Given the description of an element on the screen output the (x, y) to click on. 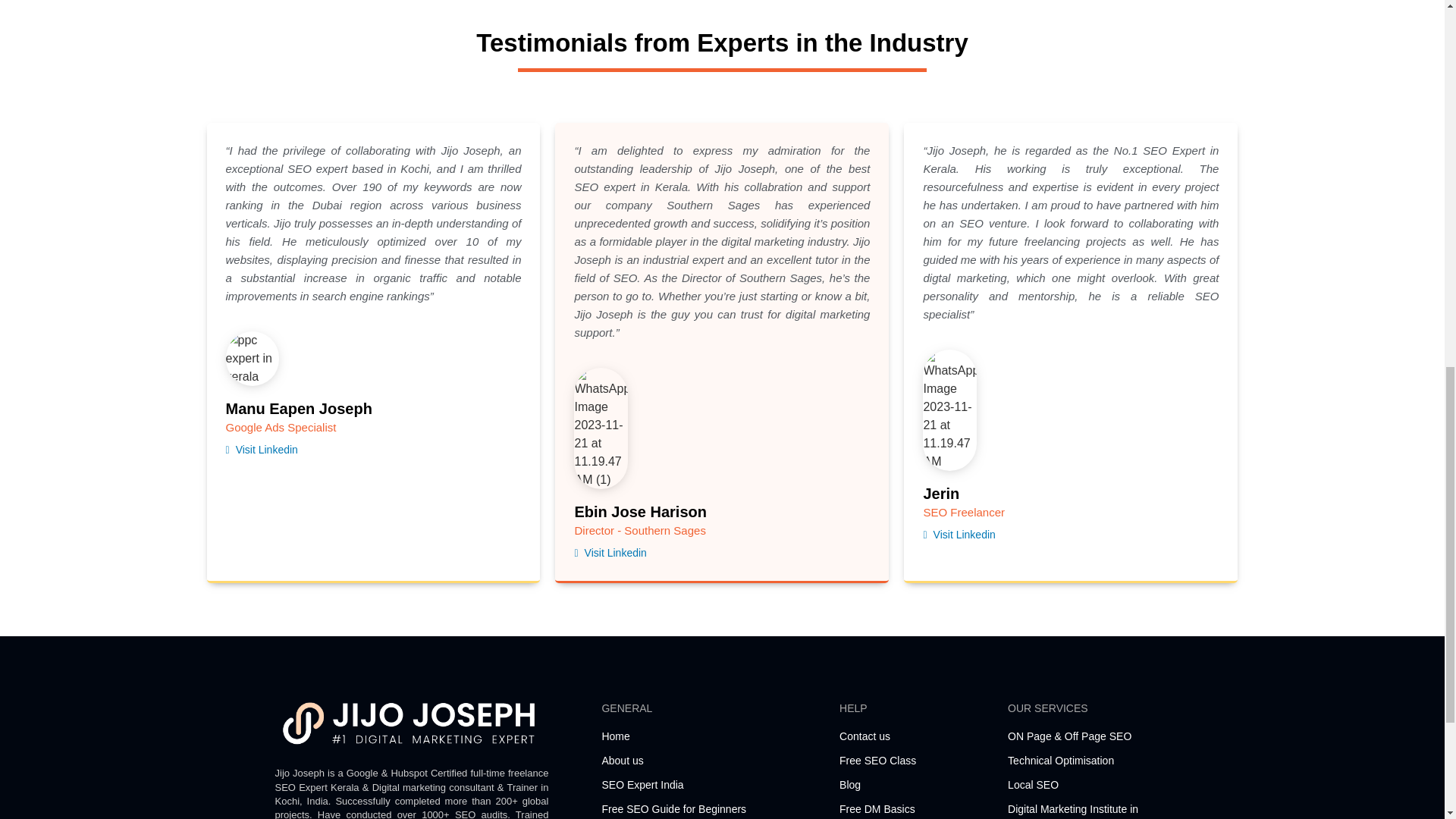
Free SEO Guide for Beginners (712, 809)
WhatsApp Image 2023-11-21 at 11.20.27 AM (252, 358)
SEO Expert India (712, 785)
Free DM Basics (916, 809)
Free SEO Class (916, 760)
About us (712, 760)
Blog (916, 785)
Digital Marketing Institute in Kochi (1087, 810)
Contact us (916, 736)
Visit Linkedin (261, 449)
Visit Linkedin (958, 534)
Home (712, 736)
Visit Linkedin (609, 552)
